Given the description of an element on the screen output the (x, y) to click on. 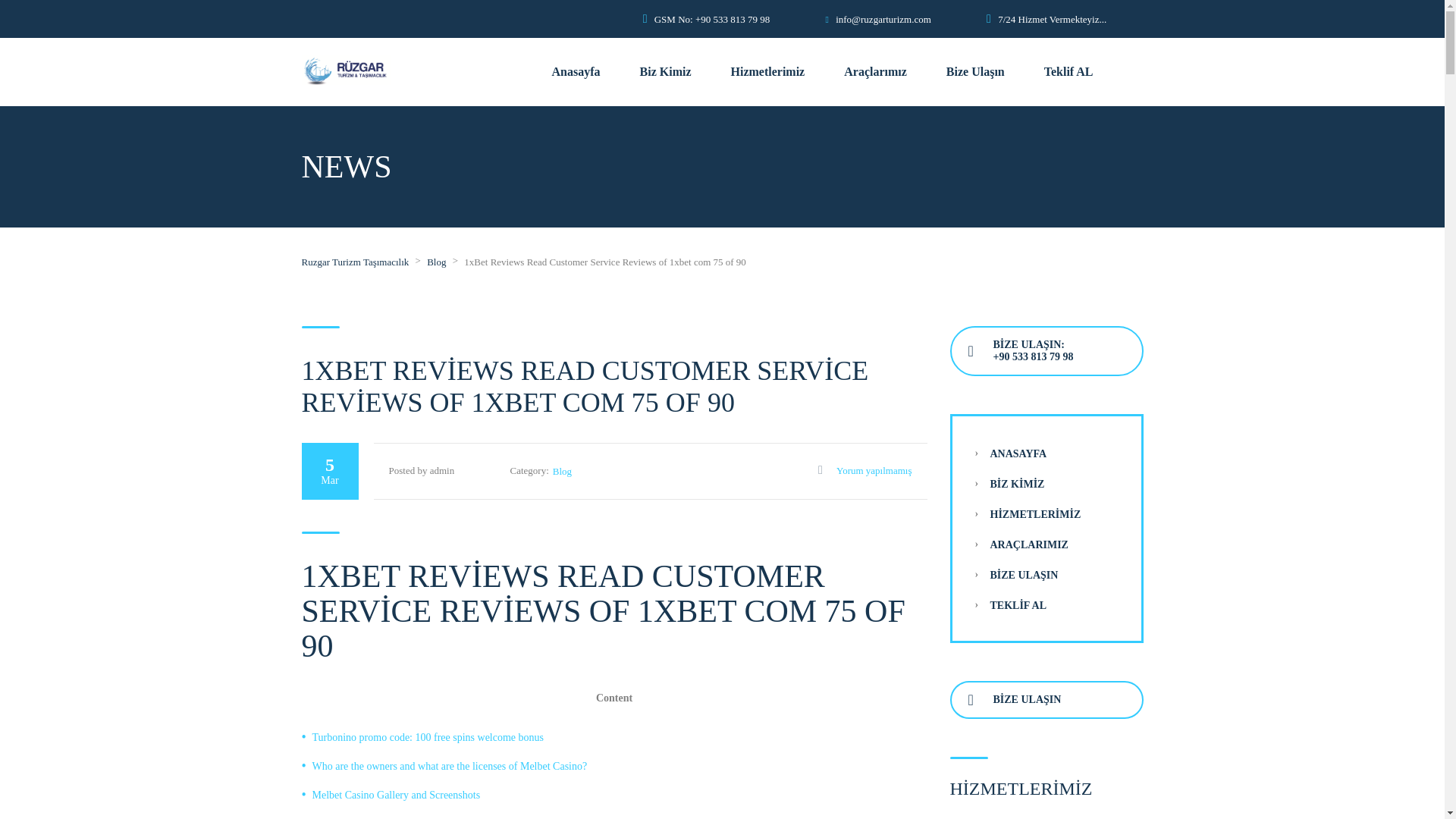
BIZ KIMIZ (1017, 483)
HIZMETLERIMIZ (1035, 514)
Turbonino promo code: 100 free spins welcome bonus (428, 737)
TEKLIF AL (1018, 604)
Hizmetlerimiz (767, 71)
Blog (562, 471)
Blog (435, 261)
Melbet Casino Gallery and Screenshots (396, 794)
ANASAYFA (1018, 453)
Go to the Blog category archives. (435, 261)
